Given the description of an element on the screen output the (x, y) to click on. 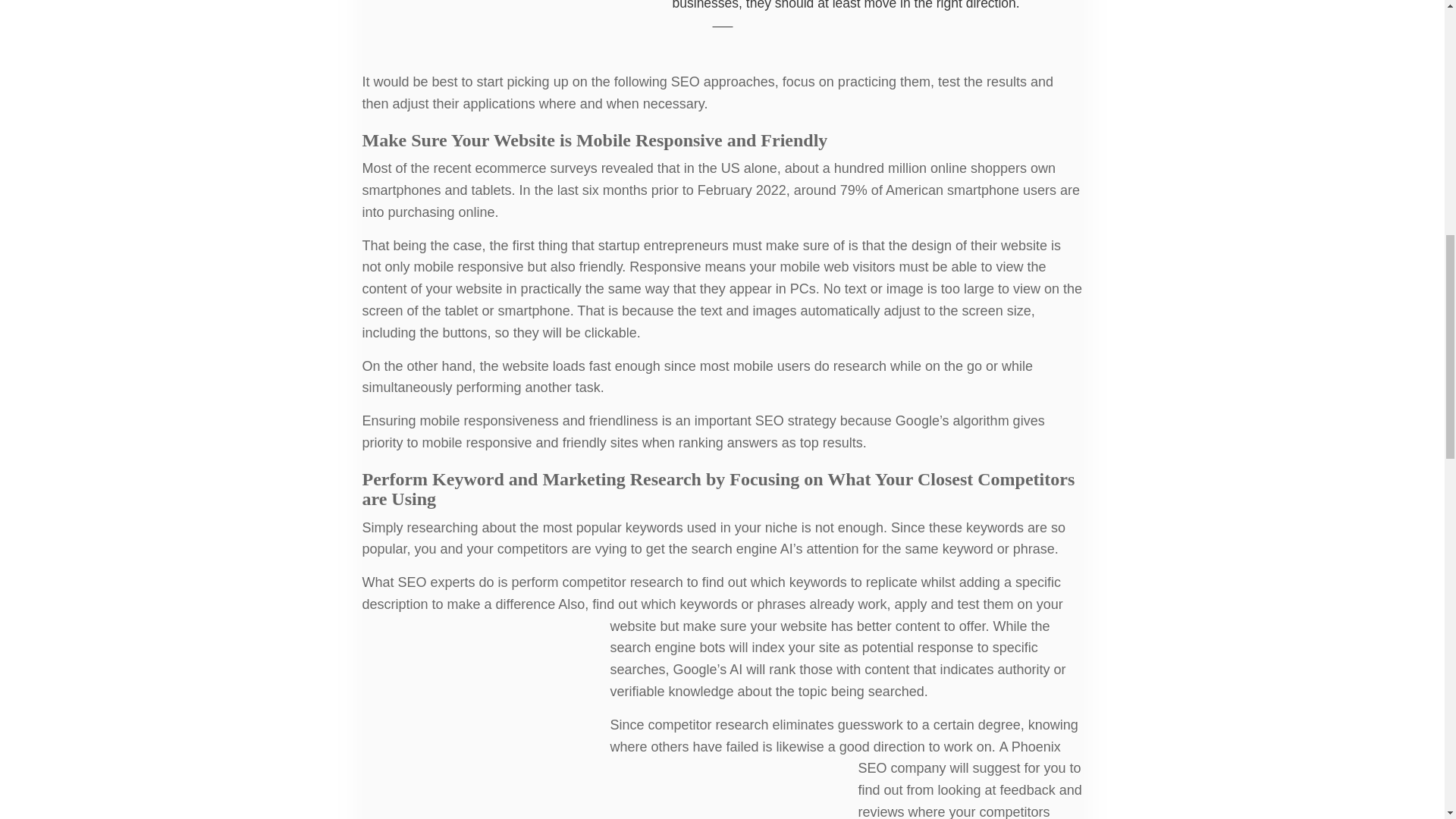
ecommerce (511, 168)
